Given the description of an element on the screen output the (x, y) to click on. 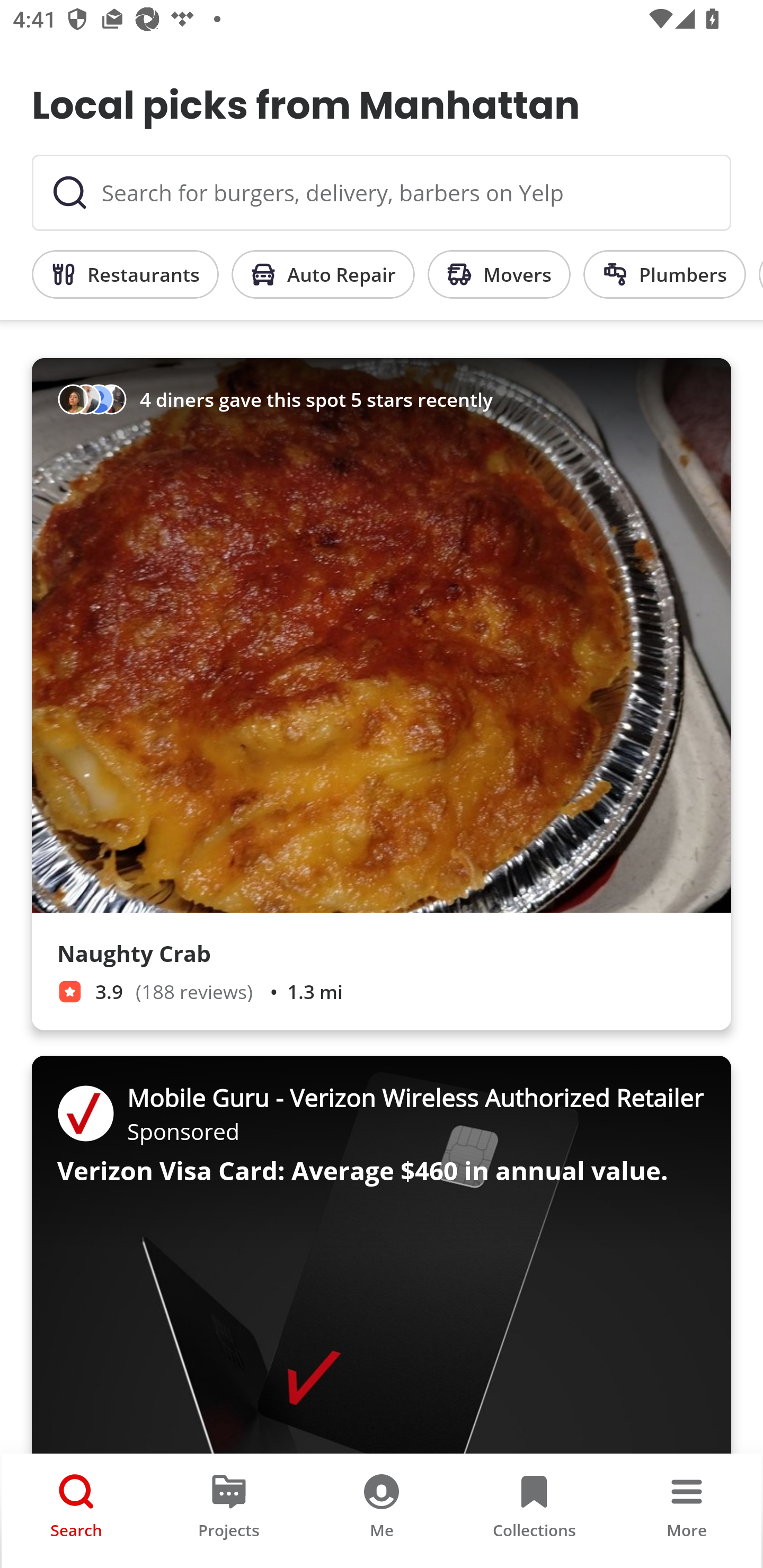
Restaurants (125, 274)
